Given the description of an element on the screen output the (x, y) to click on. 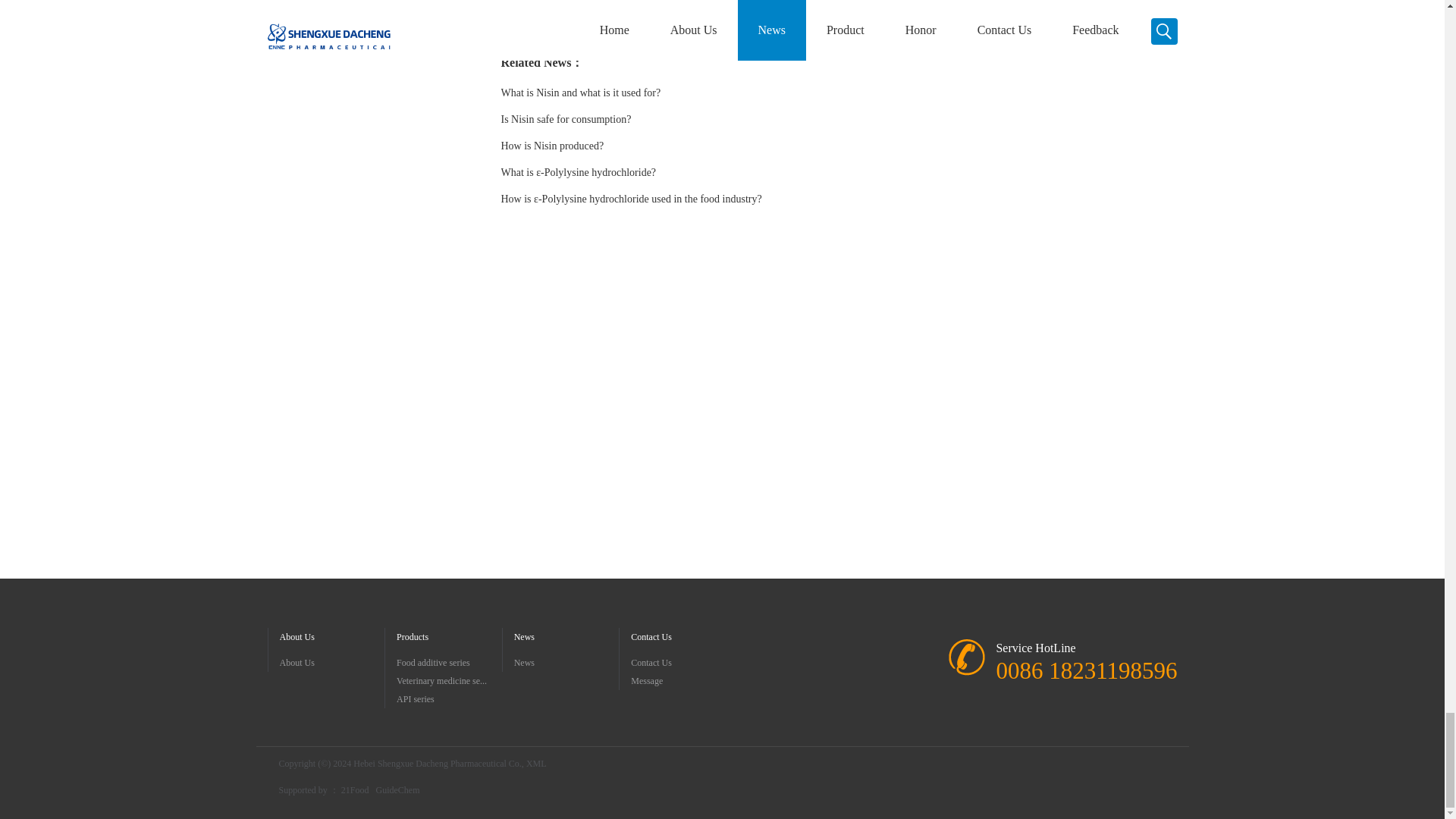
Message (683, 680)
How is Nisin produced? (552, 145)
News (566, 662)
Contact Us (683, 662)
About Us (331, 662)
What is Nisin and what is it used for? (582, 92)
Is Nisin safe for consumption? (565, 119)
